Given the description of an element on the screen output the (x, y) to click on. 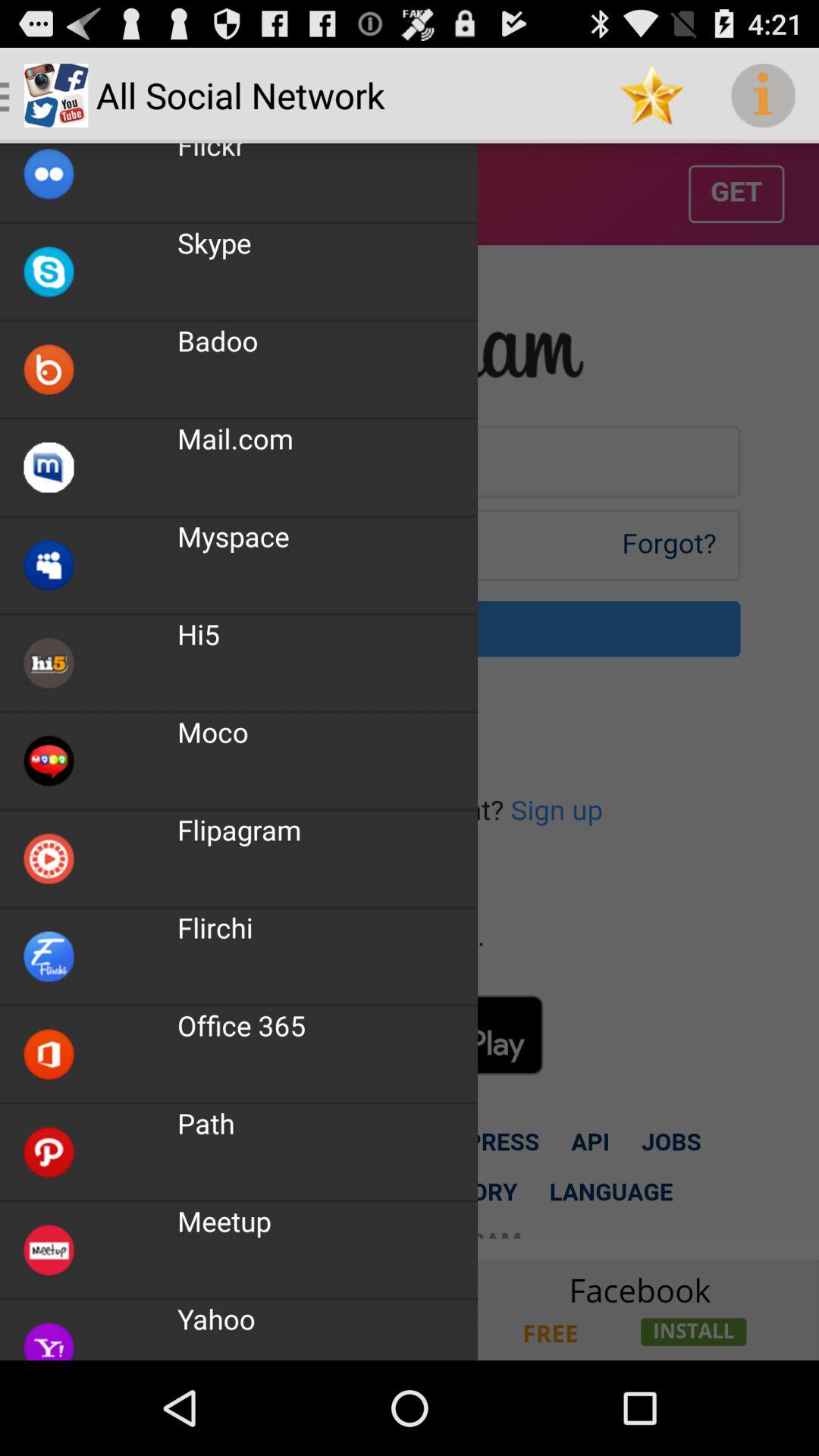
press the meetup app (223, 1220)
